Given the description of an element on the screen output the (x, y) to click on. 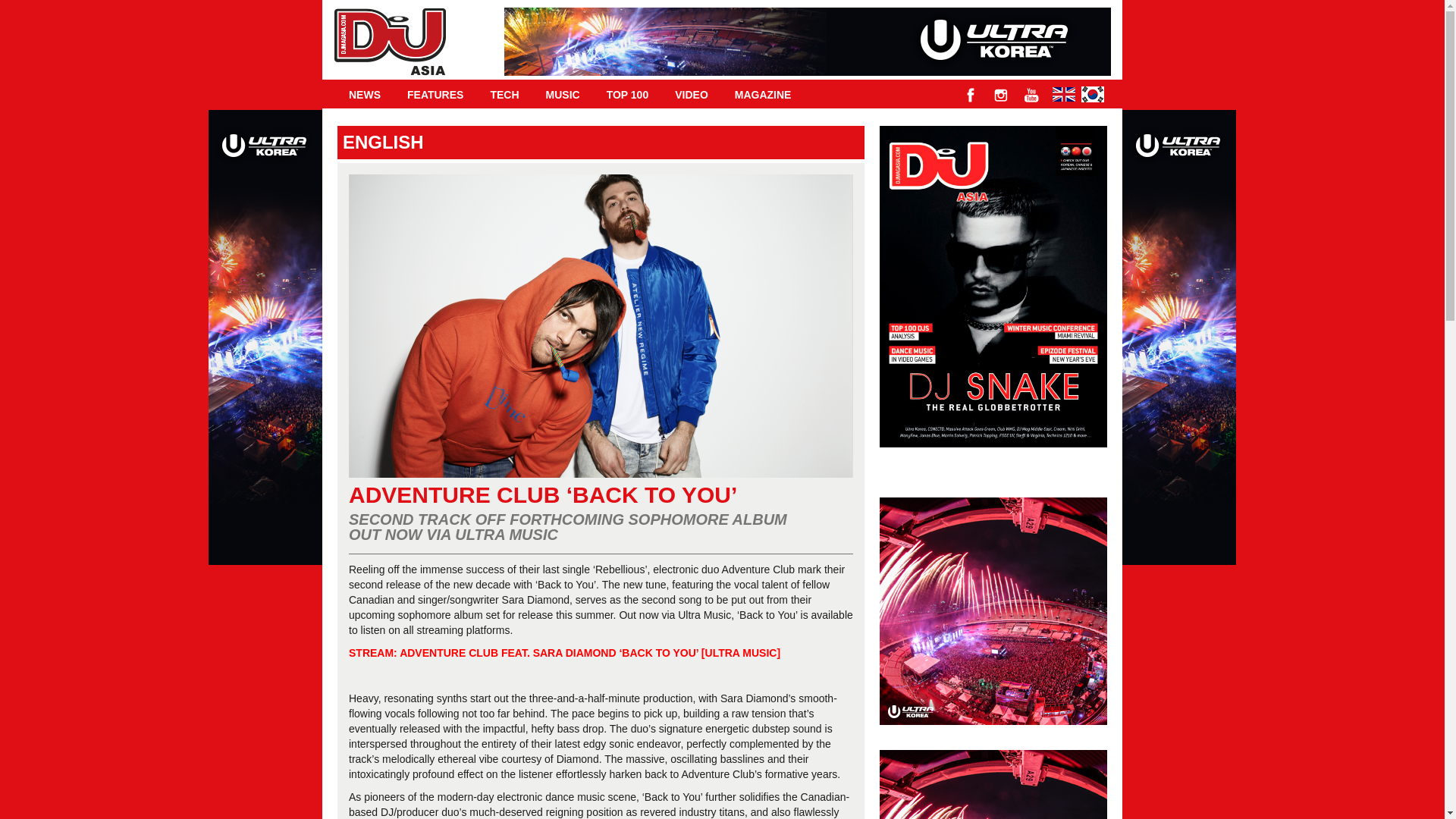
Korean (1092, 93)
MUSIC (562, 93)
English (1063, 93)
TOP 100 (628, 93)
NEWS (364, 93)
VIDEO (691, 93)
TECH (504, 93)
facebook (970, 94)
FEATURES (435, 93)
instagram (1000, 94)
youtube (1031, 94)
MAGAZINE (763, 93)
